Given the description of an element on the screen output the (x, y) to click on. 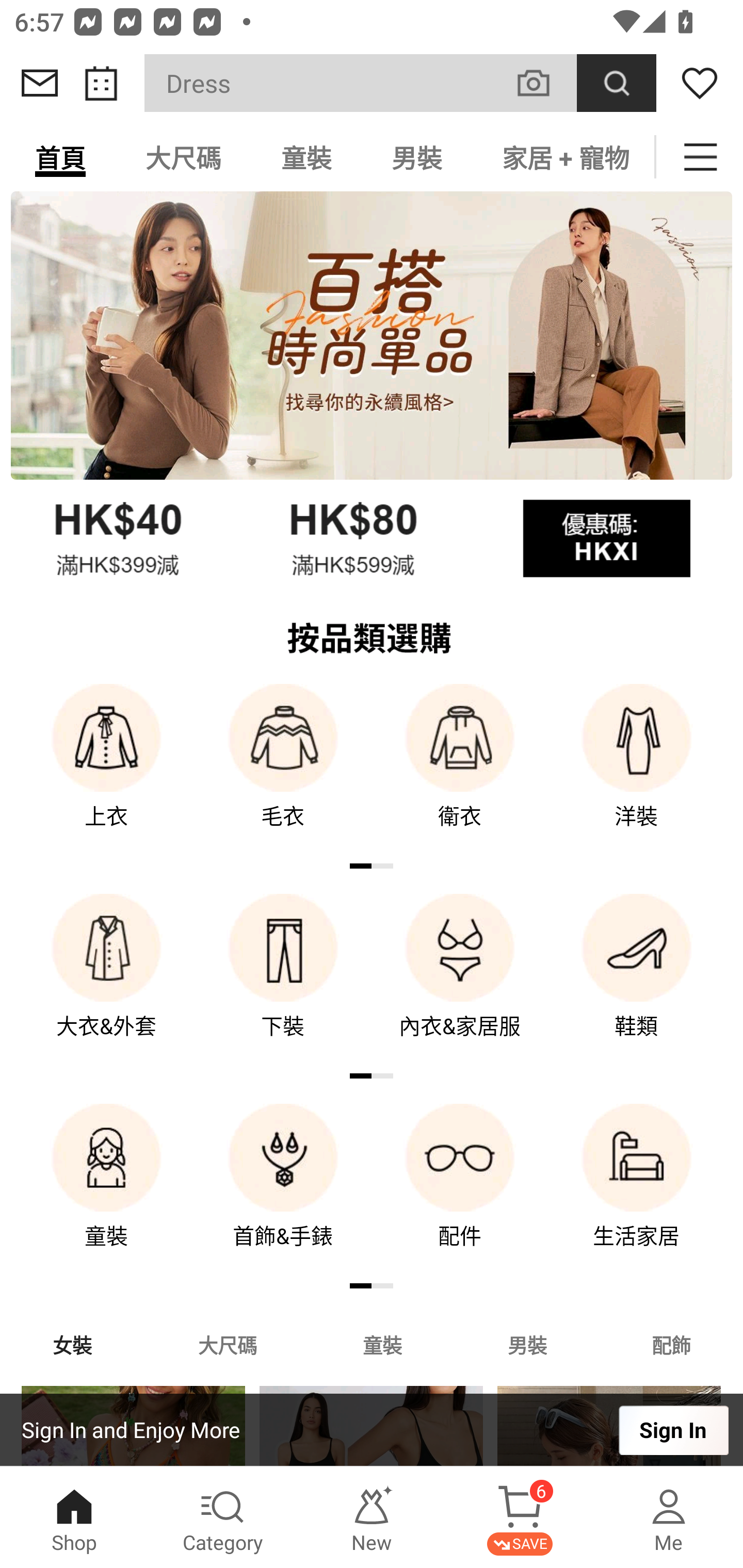
Wishlist (699, 82)
VISUAL SEARCH (543, 82)
首頁 (60, 156)
大尺碼 (183, 156)
童裝 (306, 156)
男裝 (416, 156)
家居 + 寵物 (563, 156)
上衣 (105, 769)
毛衣 (282, 769)
衛衣 (459, 769)
洋裝 (636, 769)
大衣&外套 (105, 979)
下裝 (282, 979)
內衣&家居服 (459, 979)
鞋類 (636, 979)
童裝 (105, 1189)
首飾&手錶 (282, 1189)
配件 (459, 1189)
生活家居 (636, 1189)
女裝 (72, 1344)
大尺碼 (226, 1344)
童裝 (381, 1344)
男裝 (527, 1344)
配飾 (671, 1344)
Sign In and Enjoy More Sign In (371, 1429)
Category (222, 1517)
New (371, 1517)
Cart 6 SAVE (519, 1517)
Me (668, 1517)
